Given the description of an element on the screen output the (x, y) to click on. 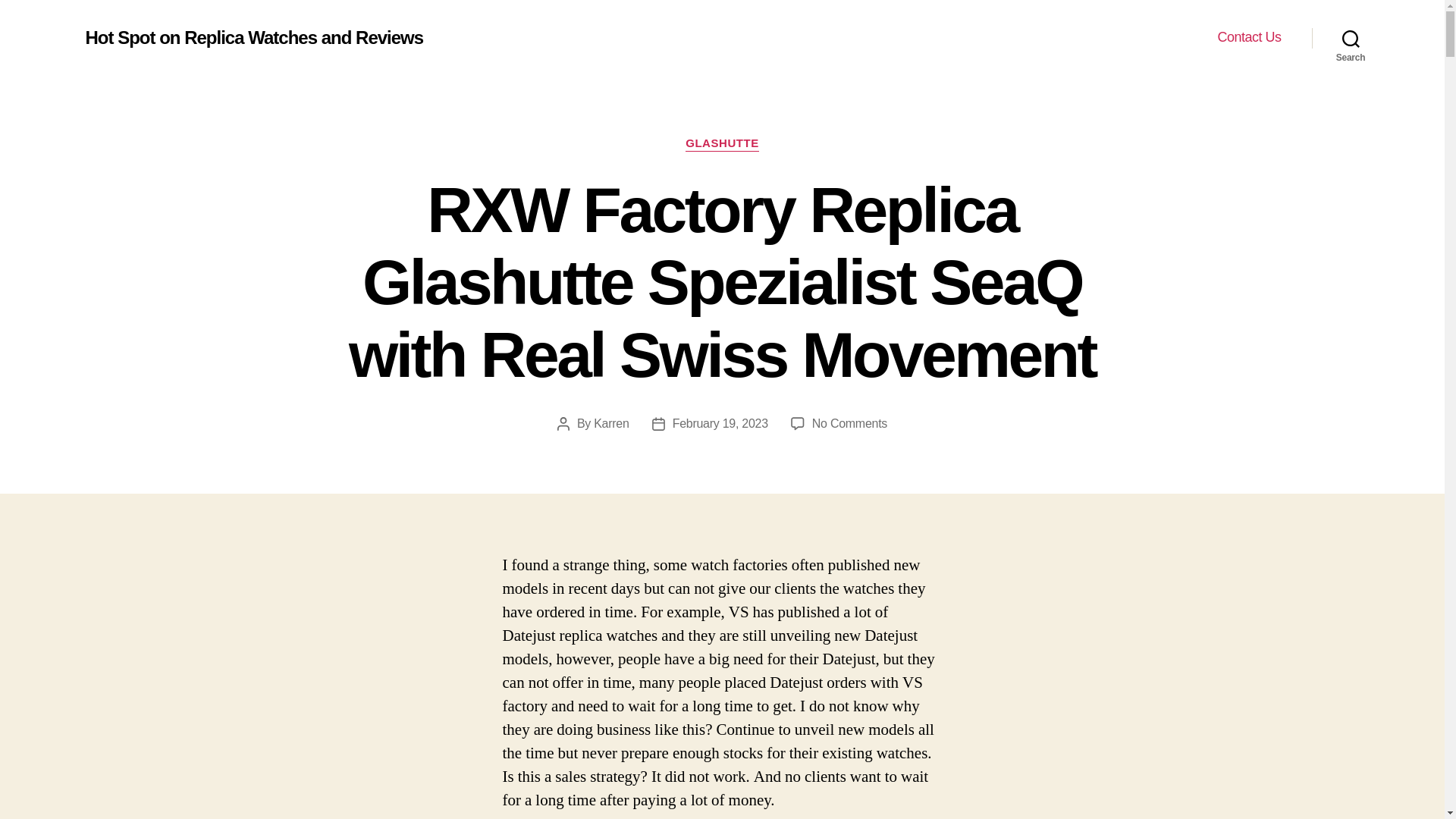
Hot Spot on Replica Watches and Reviews (253, 37)
February 19, 2023 (720, 422)
GLASHUTTE (721, 143)
Search (1350, 37)
Karren (611, 422)
Contact Us (1249, 37)
